Given the description of an element on the screen output the (x, y) to click on. 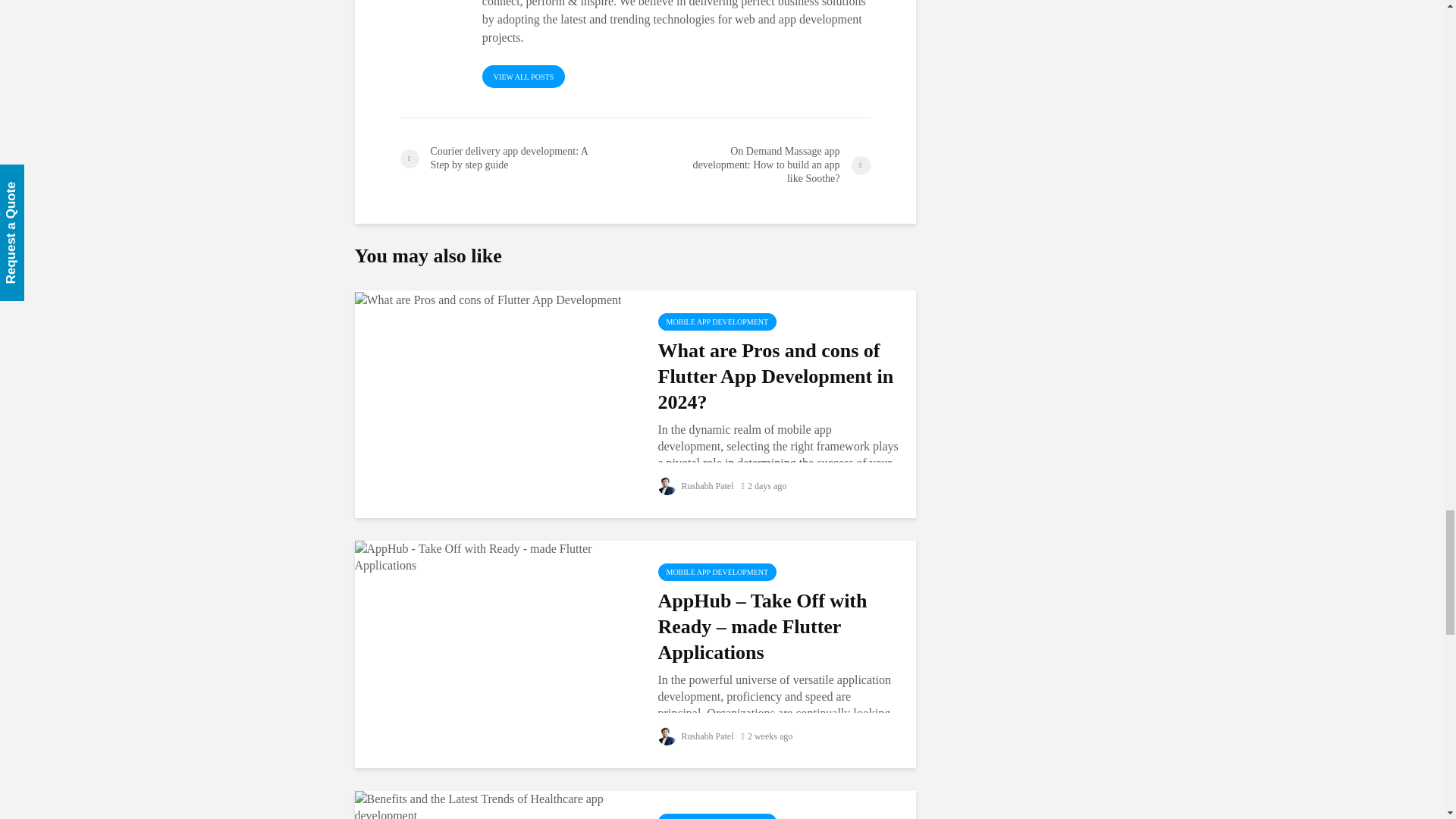
What are Pros and cons of Flutter App Development in 2024? (488, 297)
Benefits and the Latest Trends of Healthcare app development (494, 806)
